Given the description of an element on the screen output the (x, y) to click on. 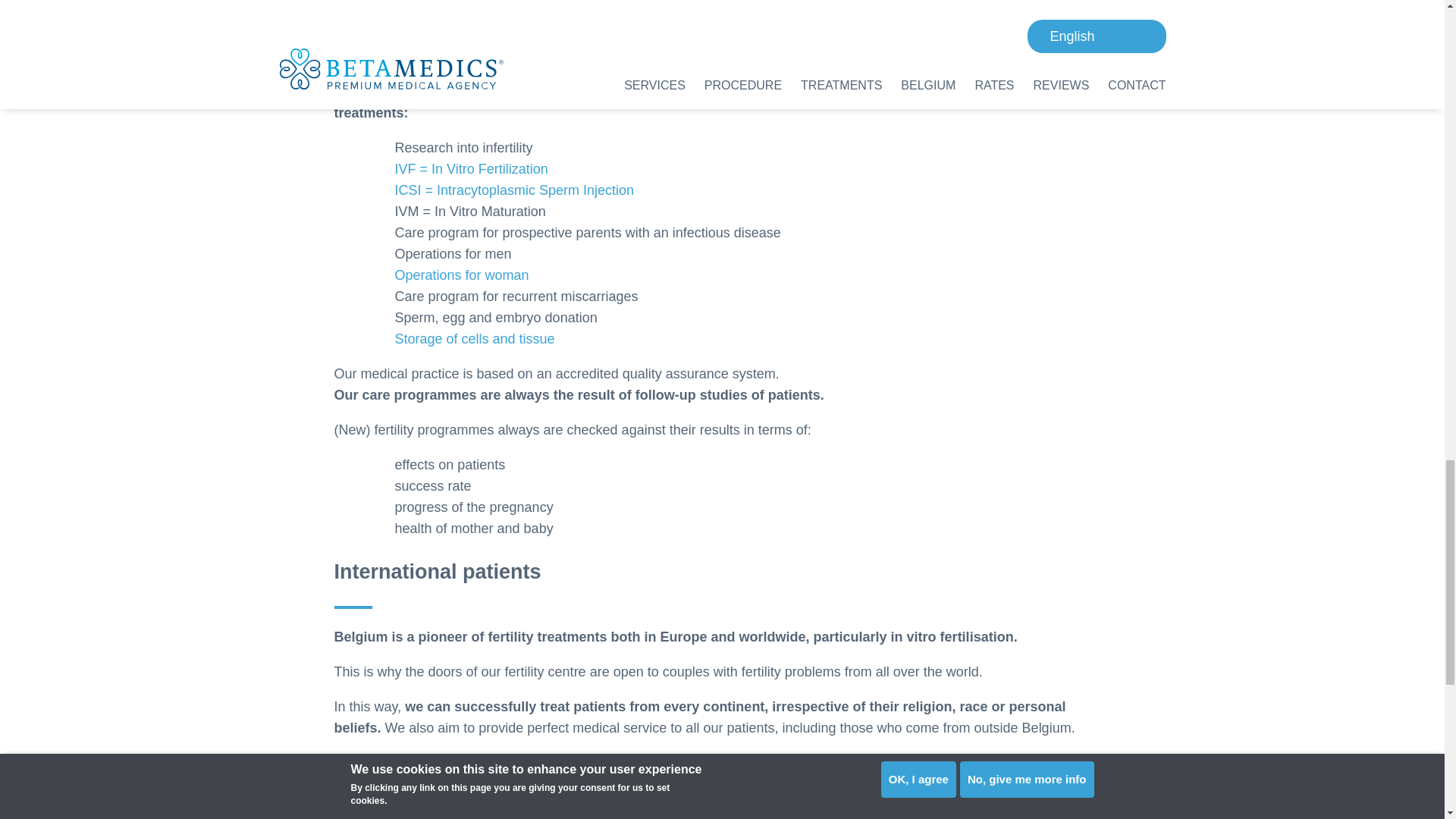
Operations for woman (461, 274)
Storage of cells and tissue (474, 338)
